Given the description of an element on the screen output the (x, y) to click on. 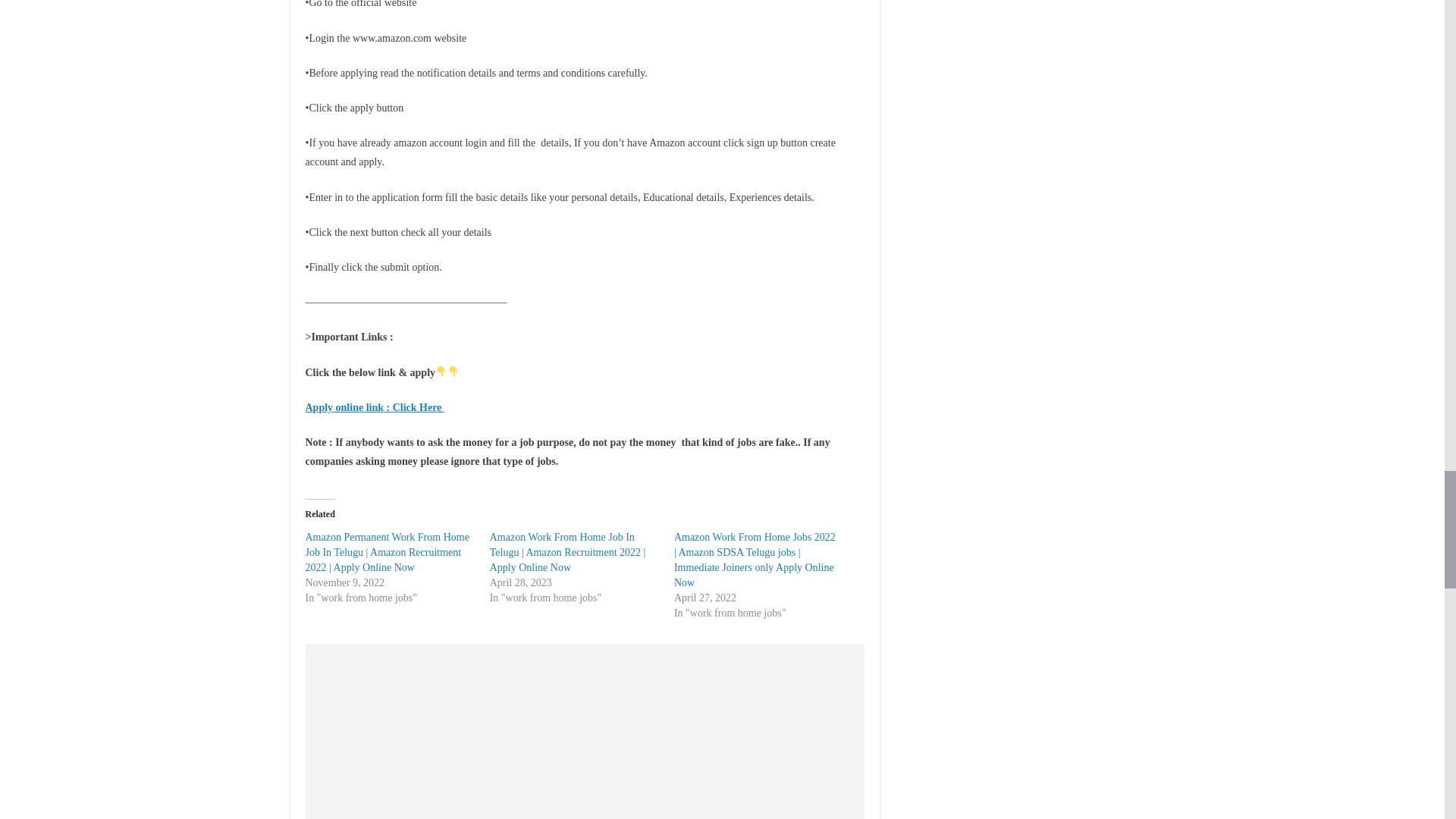
Apply online link : Click Here  (374, 407)
